Given the description of an element on the screen output the (x, y) to click on. 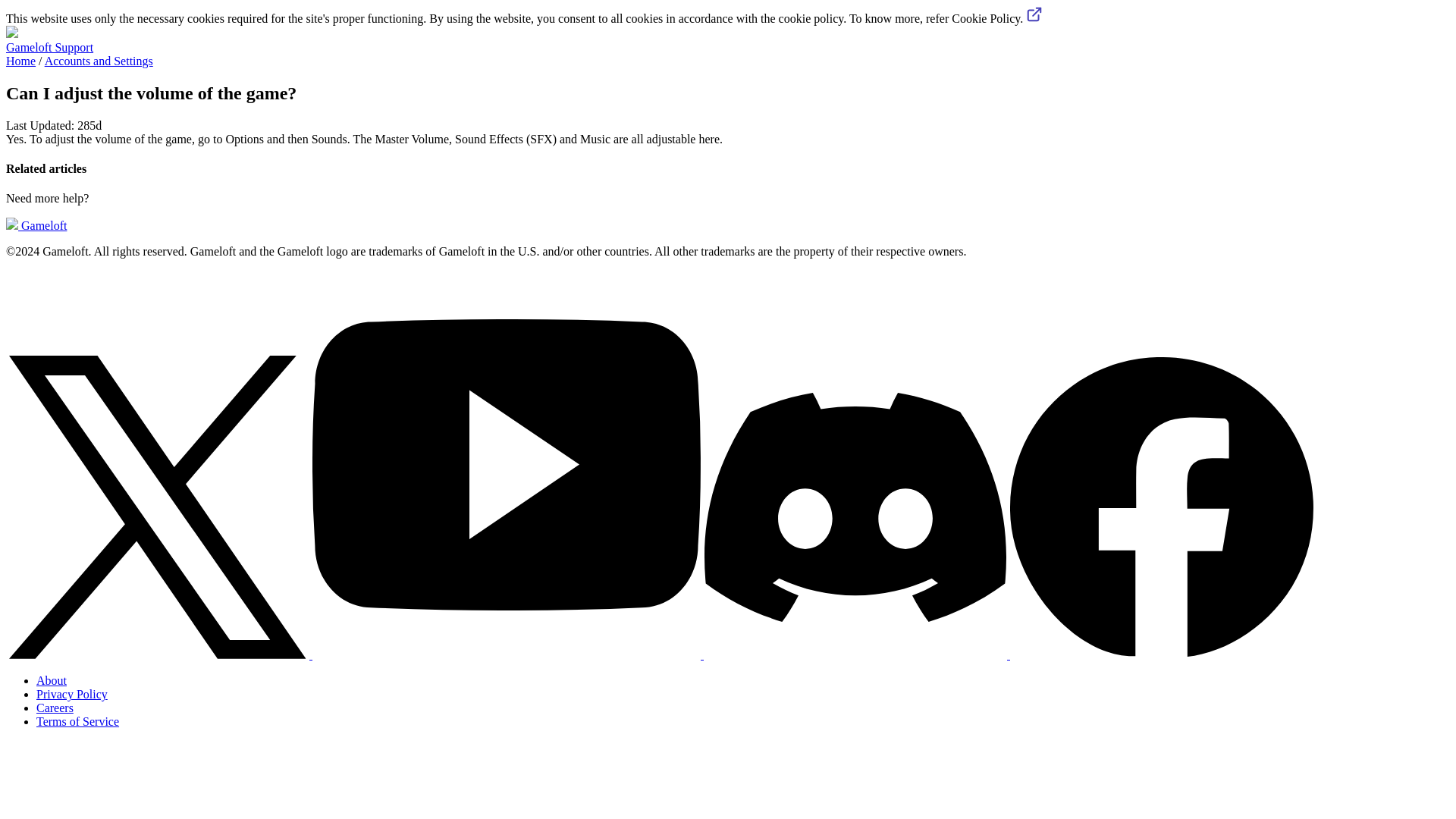
Logo Youtube (508, 654)
Careers (55, 707)
Privacy Policy (71, 694)
Logo Discord (856, 654)
Logo Discord (855, 507)
Gameloft Support (49, 47)
Logo Facebook (1161, 507)
About (51, 680)
Gameloft (35, 225)
Home (19, 60)
Logo Facebook (1161, 654)
Accounts and Settings (98, 60)
